Given the description of an element on the screen output the (x, y) to click on. 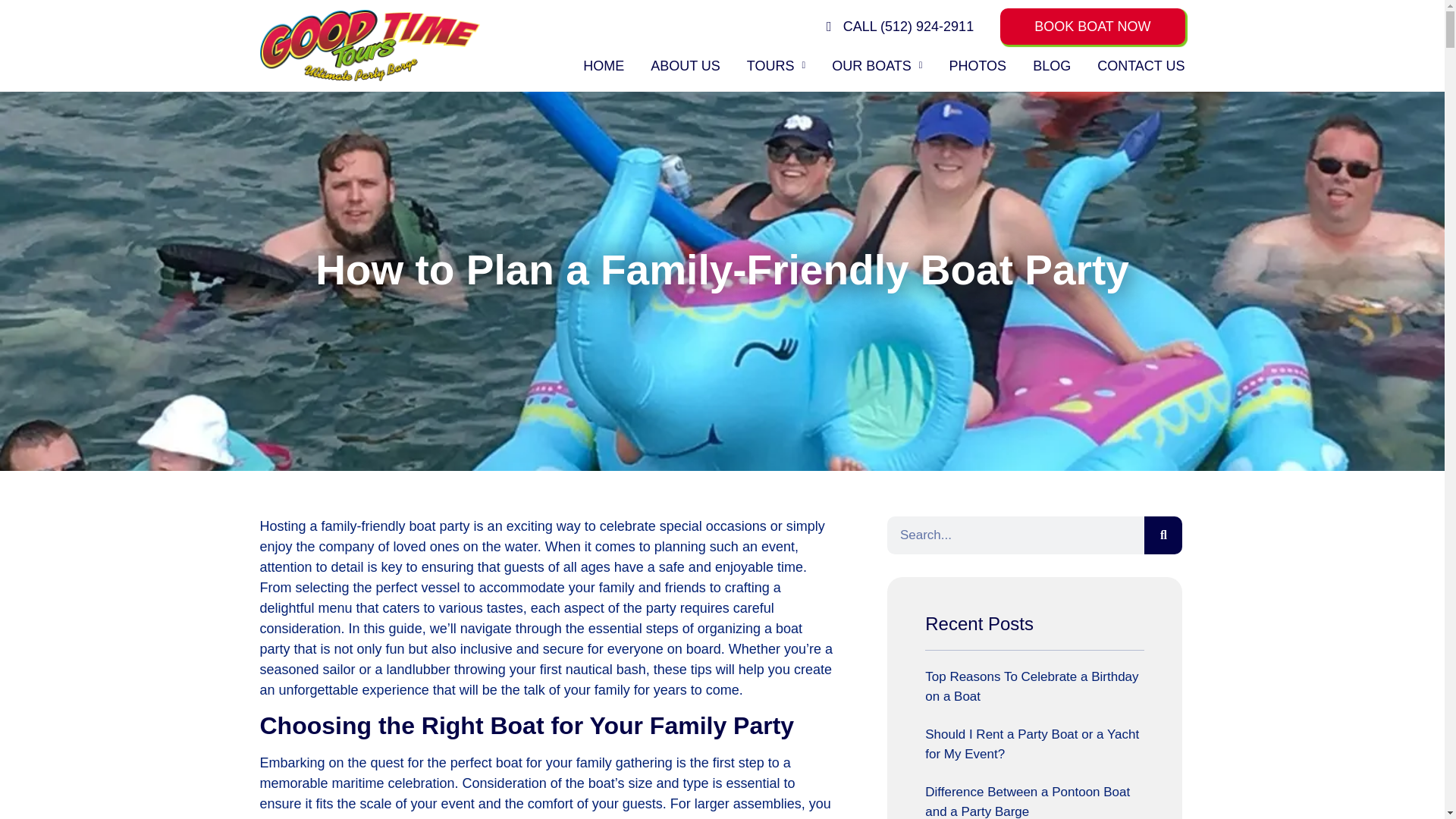
PHOTOS (977, 65)
OUR BOATS (876, 65)
HOME (603, 65)
BLOG (1051, 65)
CONTACT US (1141, 65)
TOURS (775, 65)
ABOUT US (685, 65)
BOOK BOAT NOW (1092, 25)
